Given the description of an element on the screen output the (x, y) to click on. 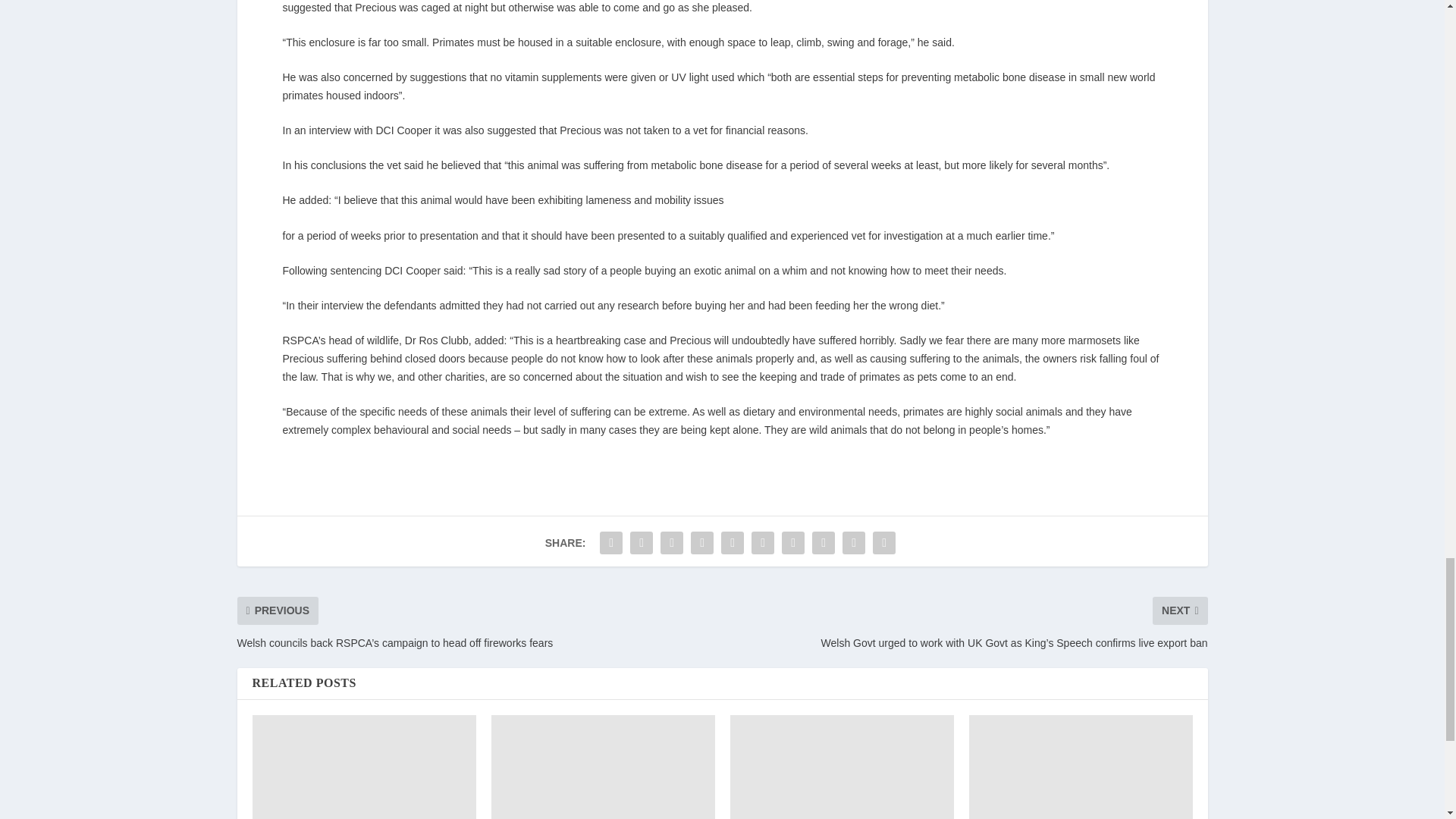
Law firm expands trainee programme. (363, 766)
Ogi (1080, 766)
